Given the description of an element on the screen output the (x, y) to click on. 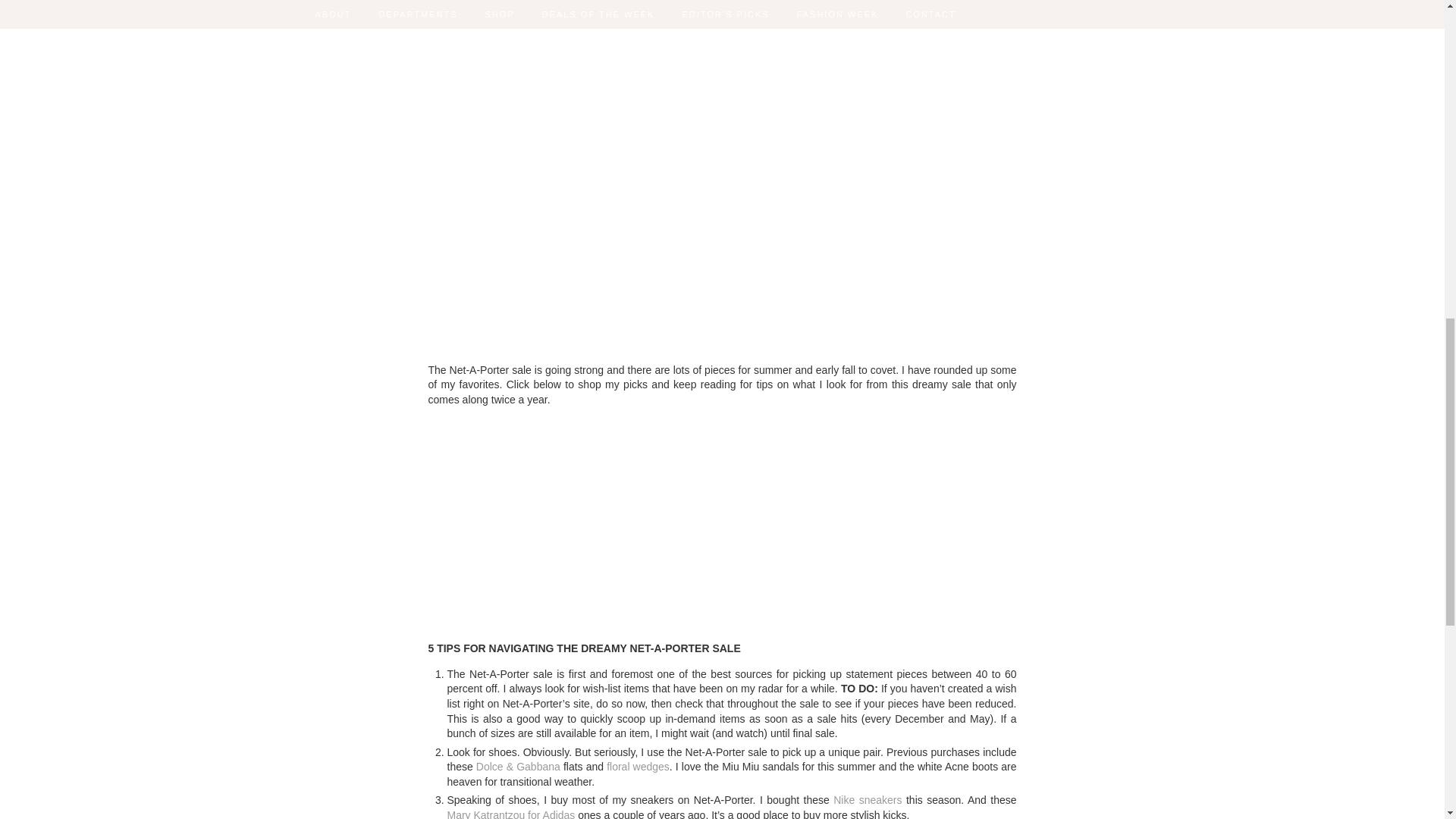
Nike sneakers (866, 799)
floral wedges (638, 766)
